Given the description of an element on the screen output the (x, y) to click on. 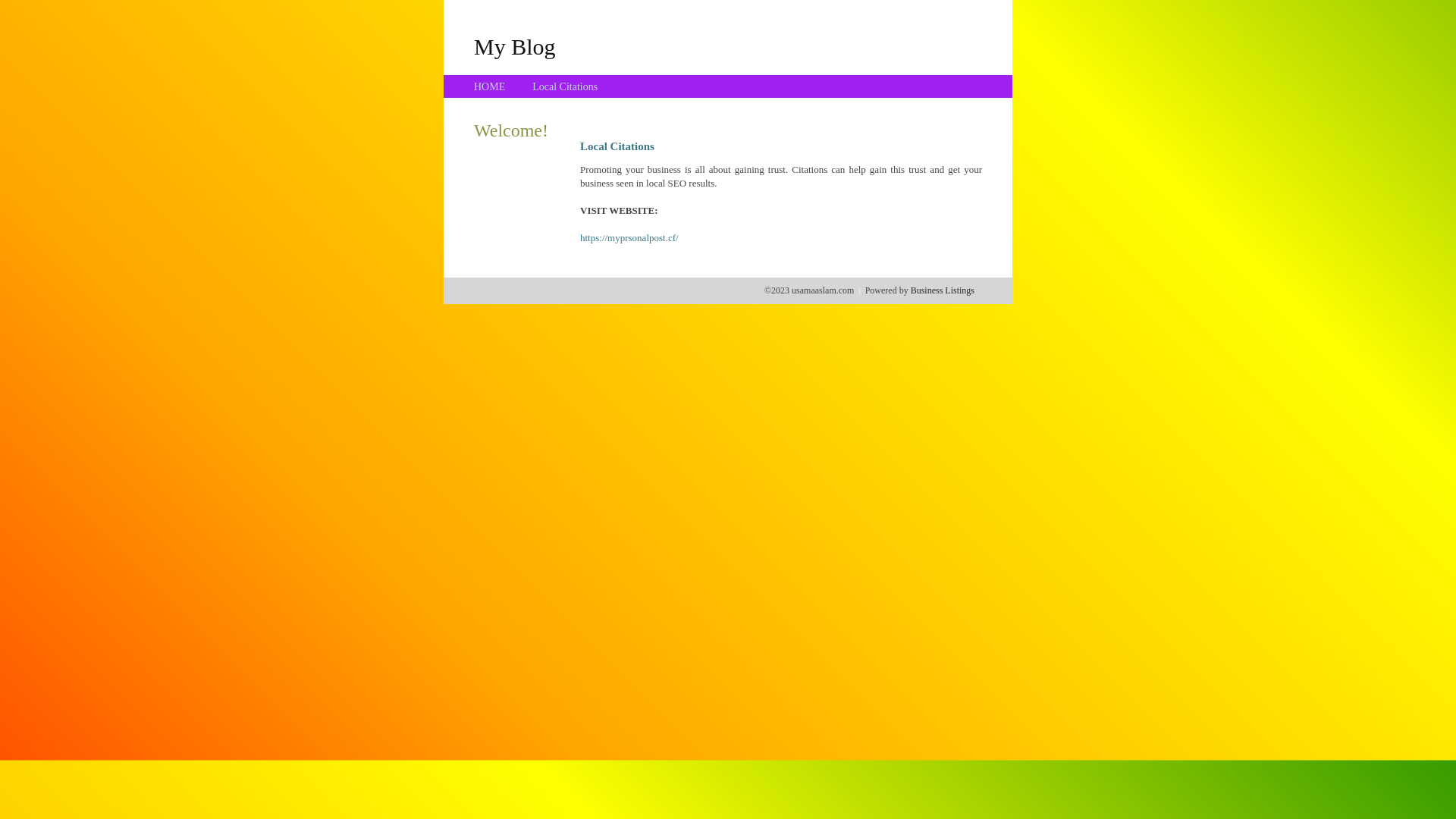
My Blog Element type: text (514, 46)
HOME Element type: text (489, 86)
Local Citations Element type: text (564, 86)
Business Listings Element type: text (942, 290)
https://myprsonalpost.cf/ Element type: text (629, 237)
